Given the description of an element on the screen output the (x, y) to click on. 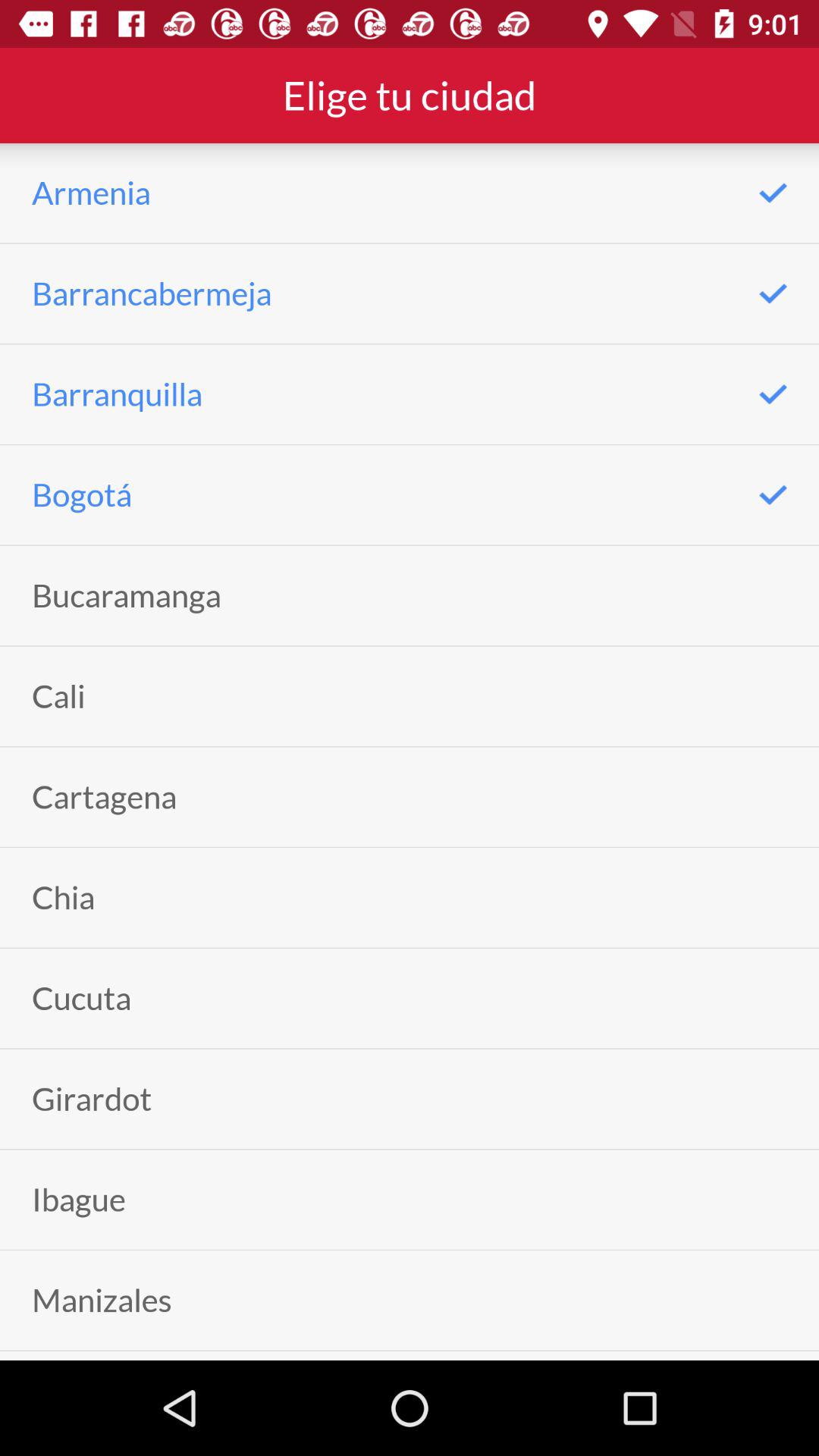
tap the icon above manizales item (78, 1199)
